Given the description of an element on the screen output the (x, y) to click on. 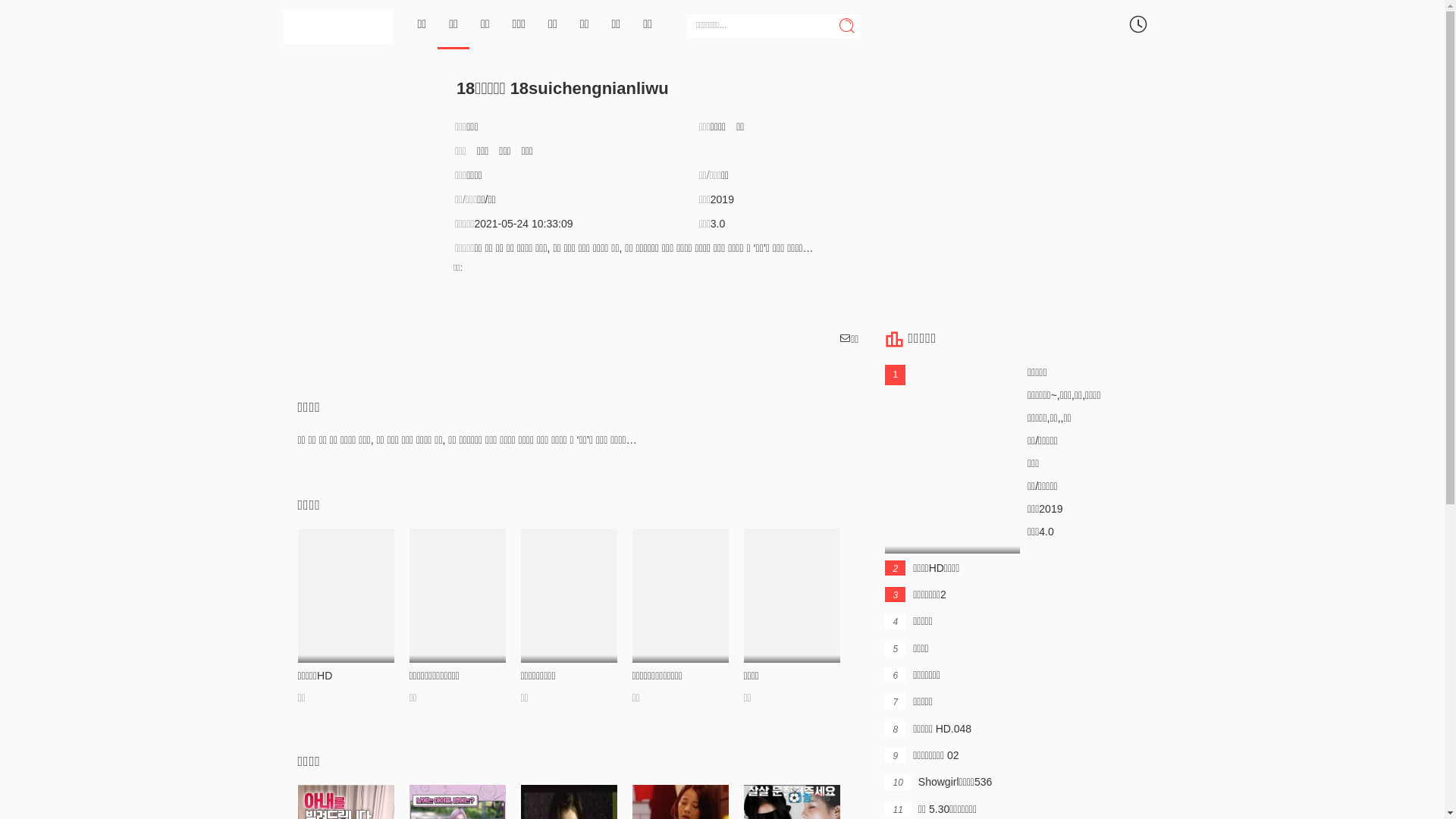
1 Element type: text (951, 458)
